Given the description of an element on the screen output the (x, y) to click on. 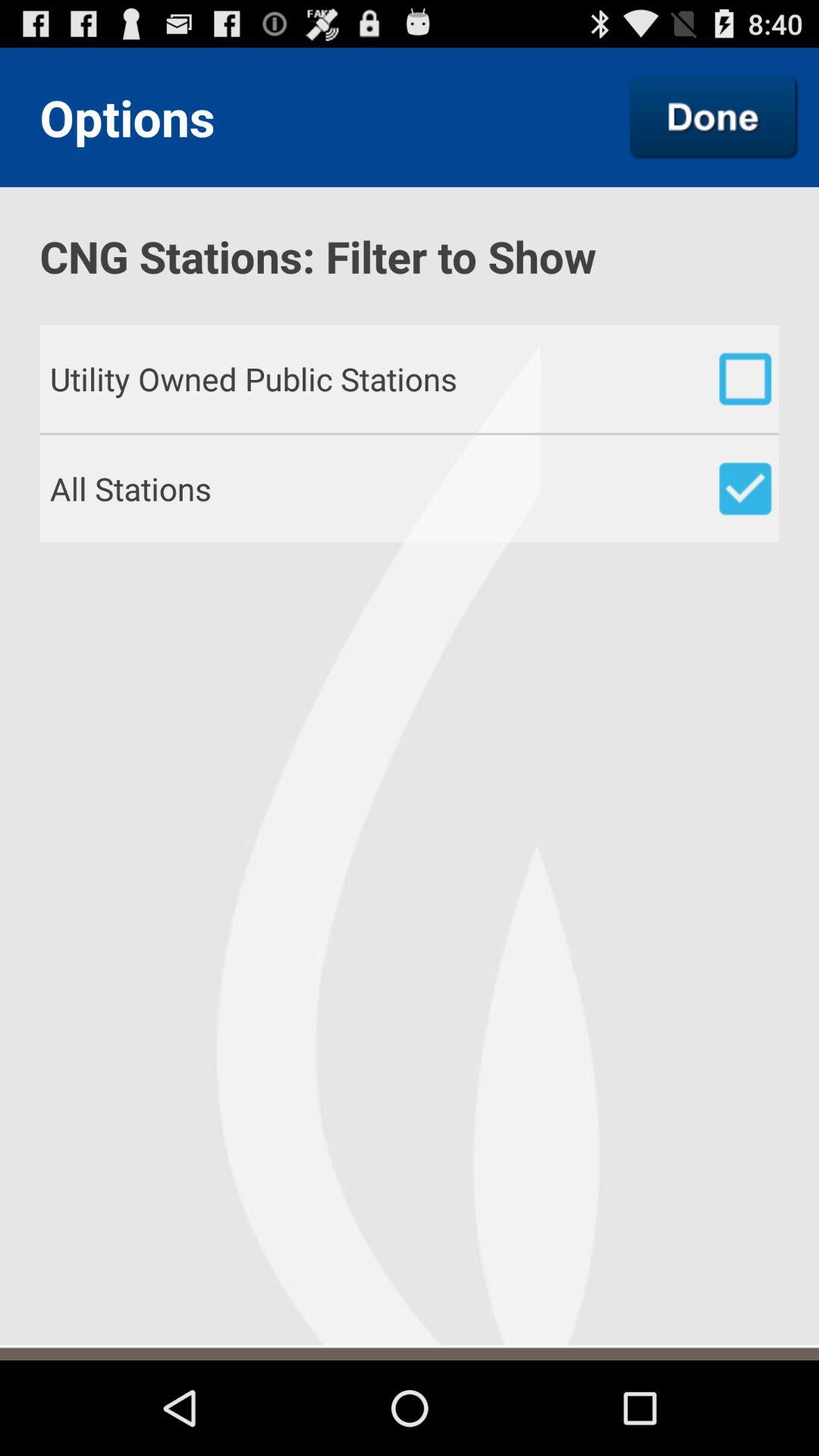
scroll until the utility owned public (414, 378)
